Given the description of an element on the screen output the (x, y) to click on. 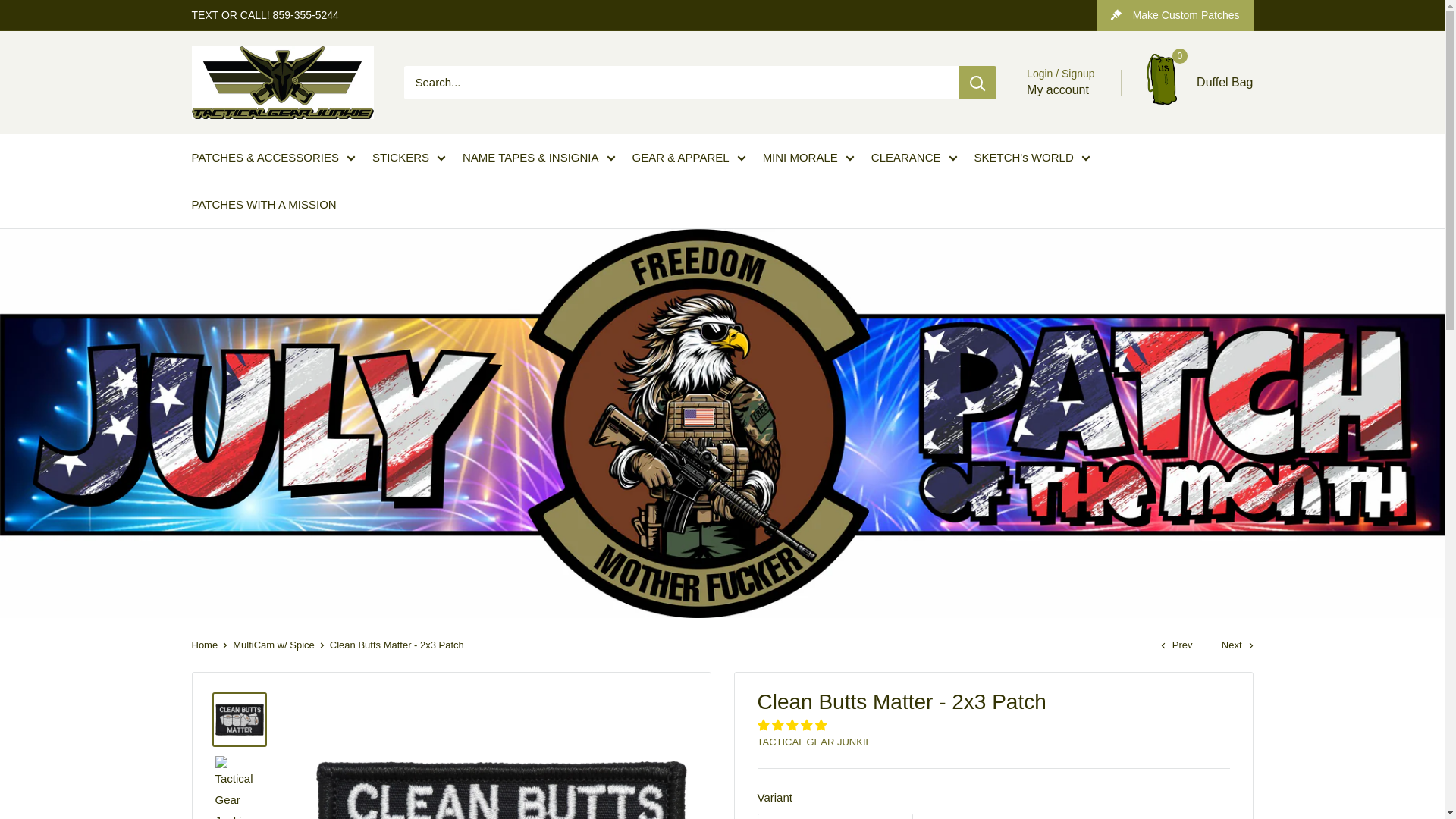
Make Custom Patches (1175, 15)
TEXT OR CALL! 859-355-5244 (263, 15)
